Given the description of an element on the screen output the (x, y) to click on. 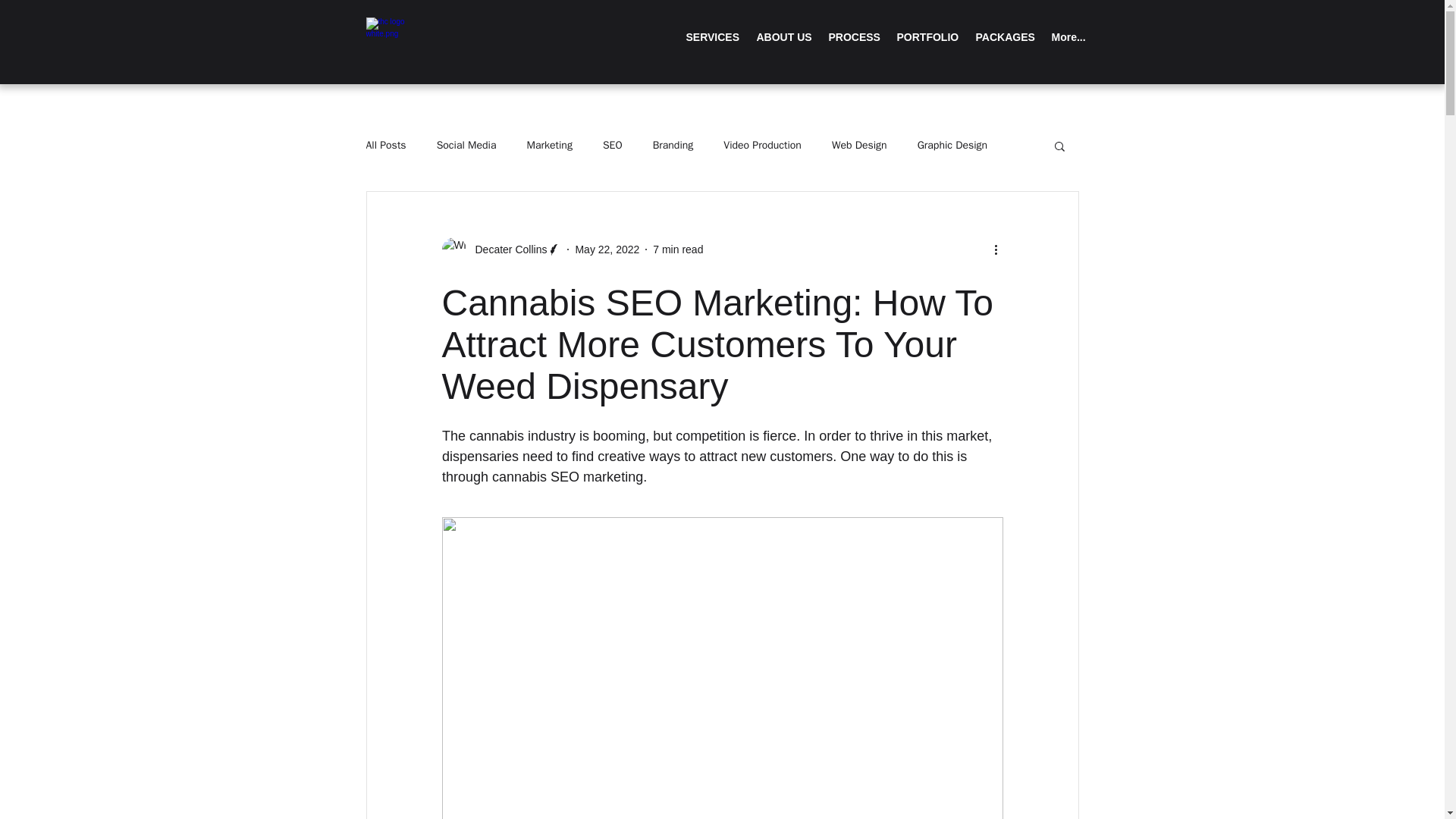
SERVICES (713, 37)
SEO (612, 145)
PROCESS (854, 37)
All Posts (385, 145)
Social Media (466, 145)
Decater Collins (506, 248)
Branding (673, 145)
Web Design (858, 145)
PACKAGES (1005, 37)
Graphic Design (952, 145)
